Given the description of an element on the screen output the (x, y) to click on. 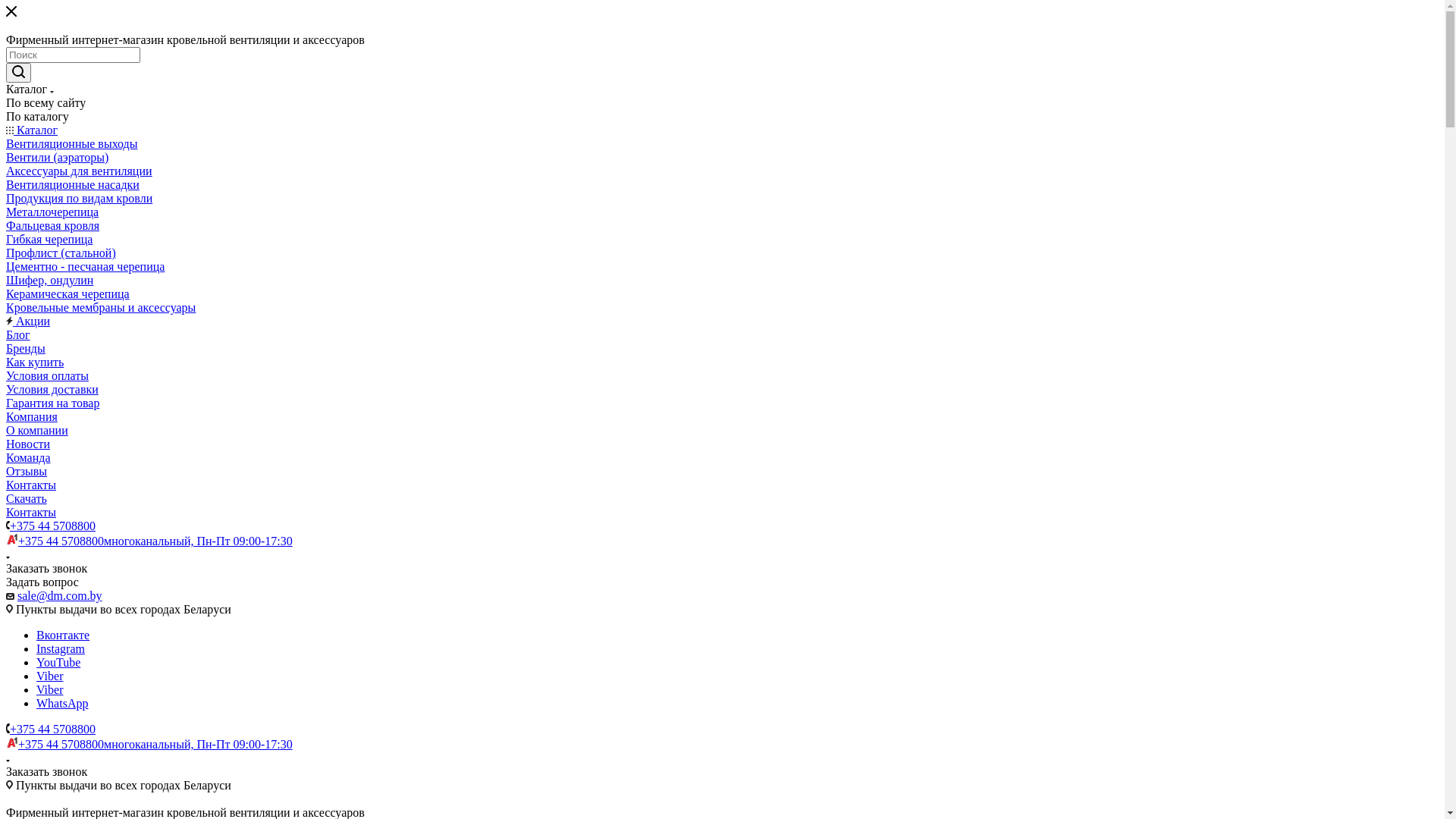
dwqujl88esdayw0kqzb5mg8qce6vd4hj.svg Element type: hover (12, 742)
Viber Element type: text (49, 689)
WhatsApp Element type: text (61, 702)
sale@dm.com.by Element type: text (59, 595)
Viber Element type: text (49, 675)
Instagram Element type: text (60, 648)
dwqujl88esdayw0kqzb5mg8qce6vd4hj.svg Element type: hover (12, 539)
+375 44 5708800 Element type: text (52, 728)
YouTube Element type: text (58, 661)
+375 44 5708800 Element type: text (52, 525)
